Given the description of an element on the screen output the (x, y) to click on. 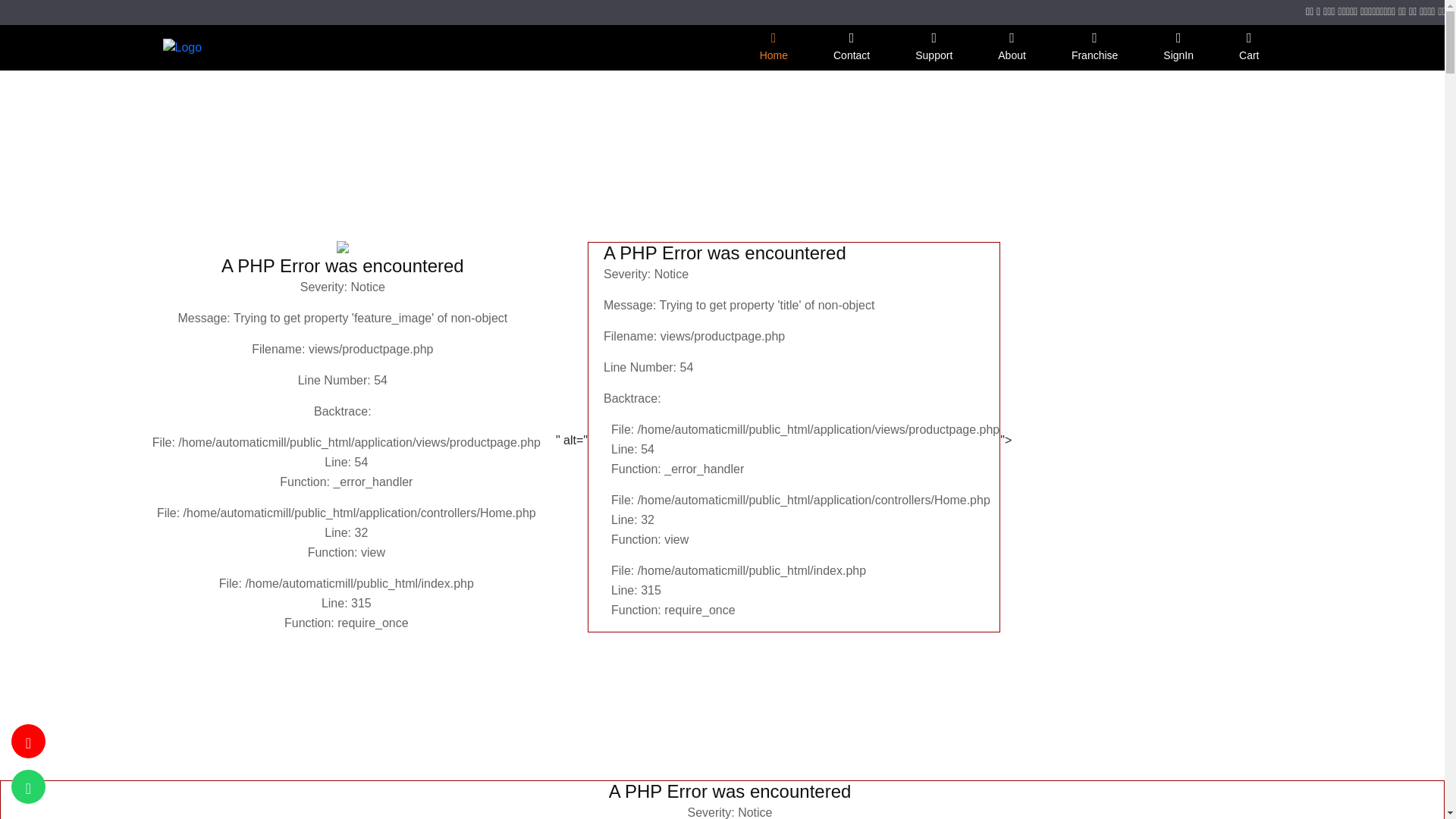
Support (933, 46)
SignIn (1177, 46)
Home (773, 46)
Contact (851, 46)
About (1011, 46)
Franchise (1094, 46)
Cart (1248, 46)
